Given the description of an element on the screen output the (x, y) to click on. 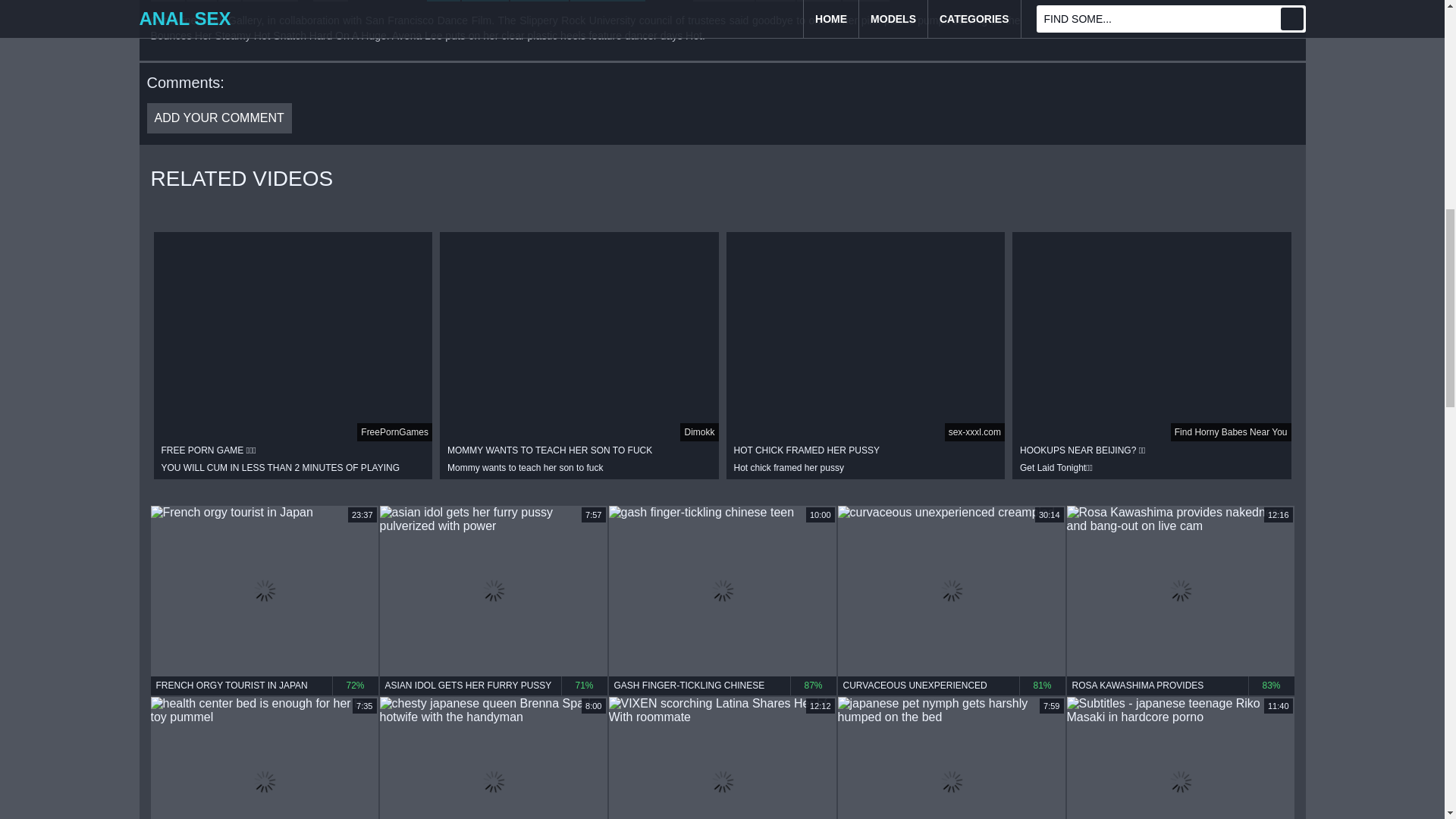
CURVACEOUS UNEXPERIENCED CREAMPIED (950, 685)
12:12 (721, 757)
LIKE! (166, 0)
ASIAN (774, 0)
7:35 (263, 757)
FRENCH ORGY TOURIST IN JAPAN (263, 685)
CUNNILINGUS (607, 0)
ROSA KAWASHIMA PROVIDES NAKEDNESS AND BANG-OUT ON LIVE CAM (1179, 685)
7:59 (950, 757)
